Given the description of an element on the screen output the (x, y) to click on. 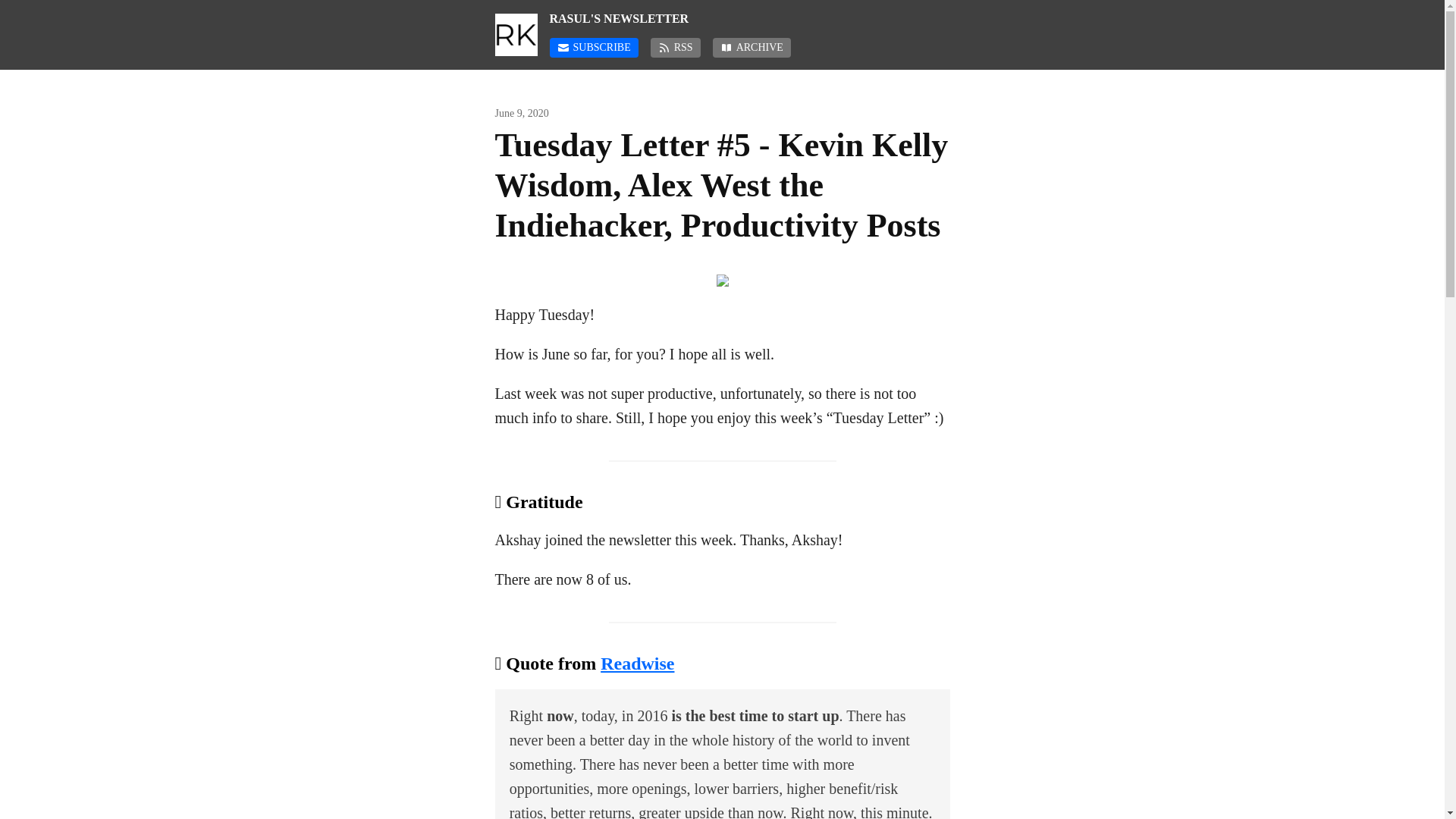
Readwise (636, 663)
RSS (675, 47)
SUBSCRIBE (592, 47)
ARCHIVE (751, 47)
RASUL'S NEWSLETTER (748, 18)
